Given the description of an element on the screen output the (x, y) to click on. 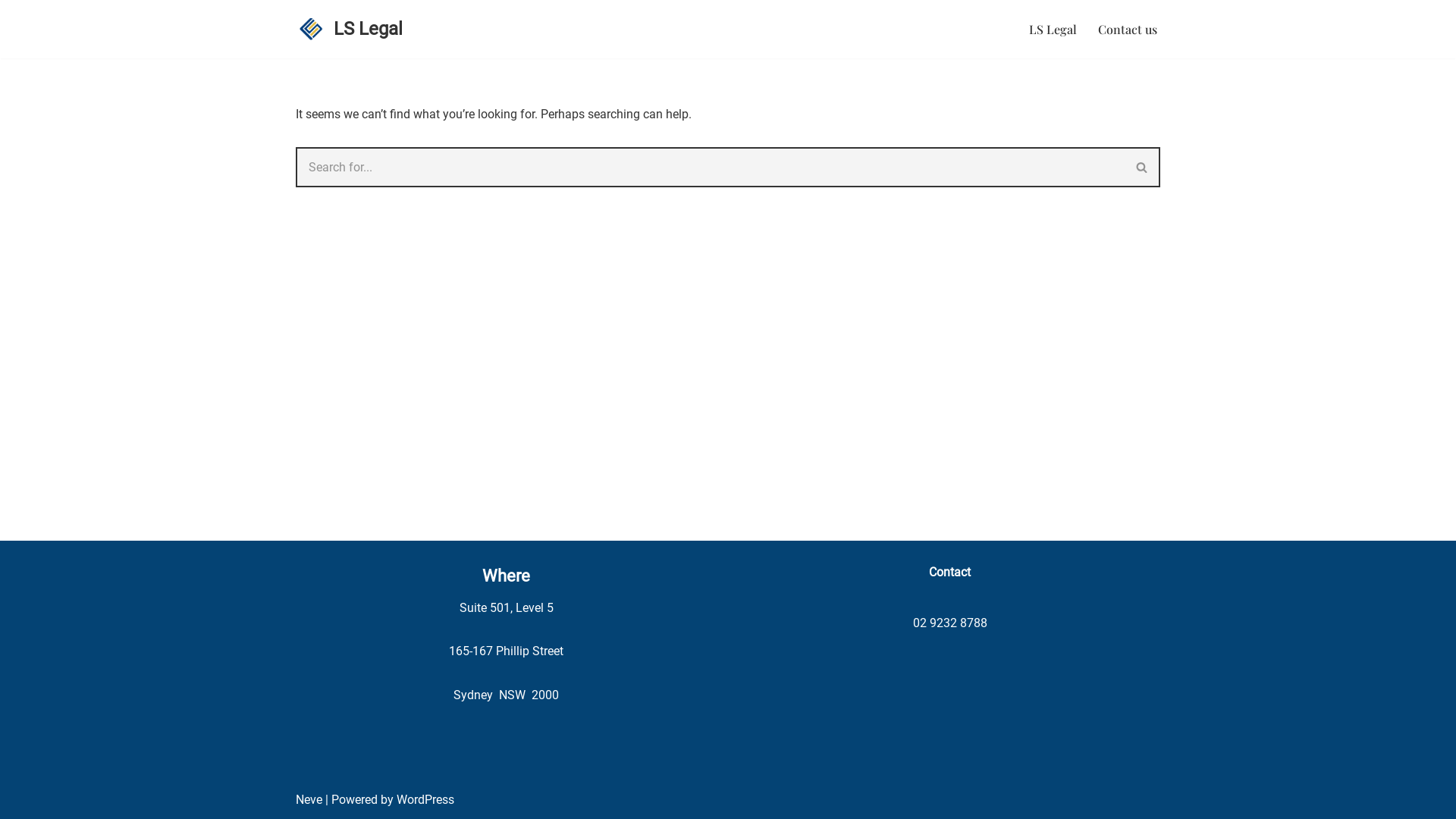
WordPress Element type: text (425, 799)
Contact us Element type: text (1127, 28)
LS Legal Element type: text (348, 28)
LS Legal Element type: text (1052, 28)
Neve Element type: text (308, 799)
Skip to content Element type: text (11, 31)
